Given the description of an element on the screen output the (x, y) to click on. 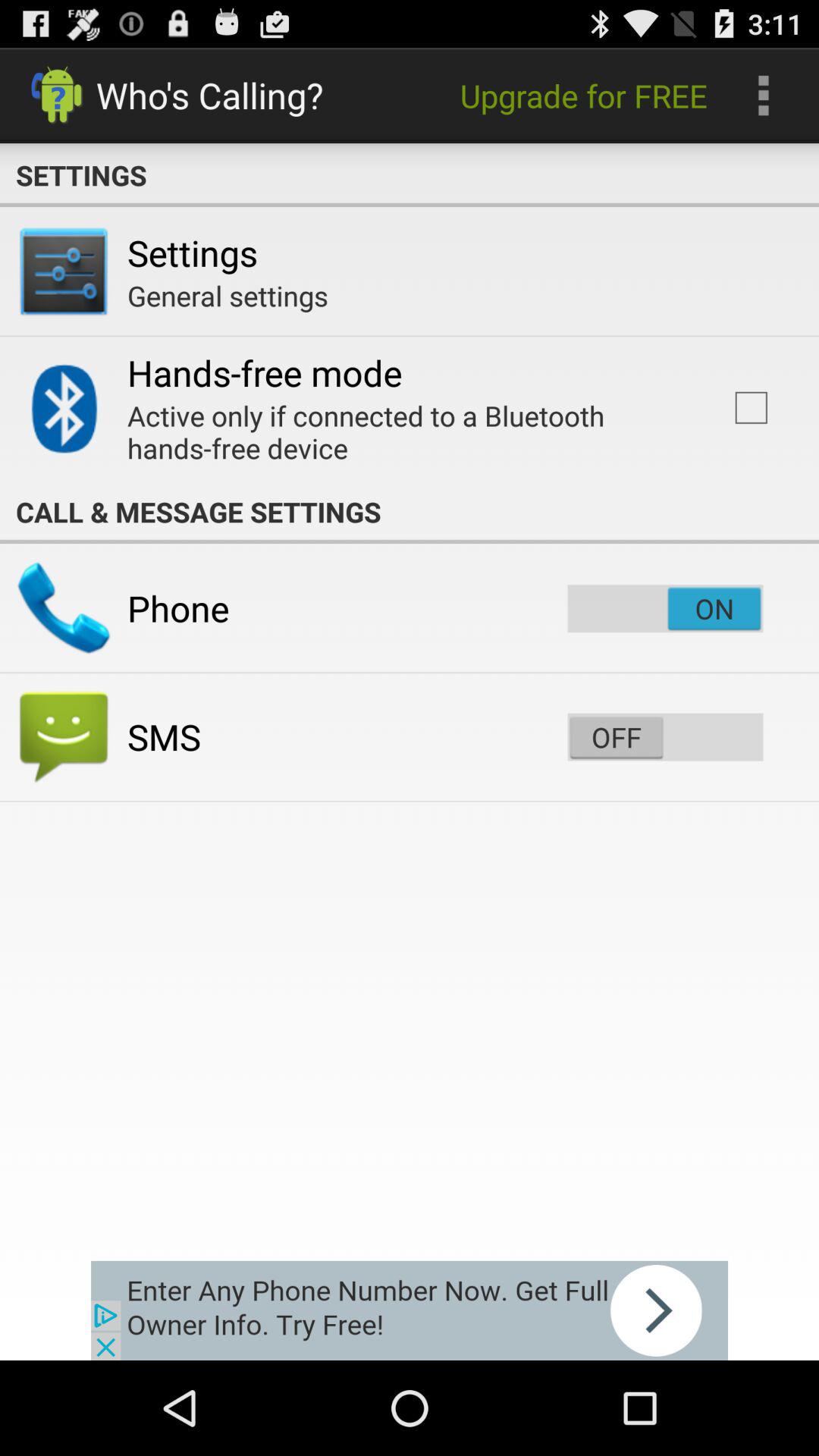
toggle off (665, 736)
